Given the description of an element on the screen output the (x, y) to click on. 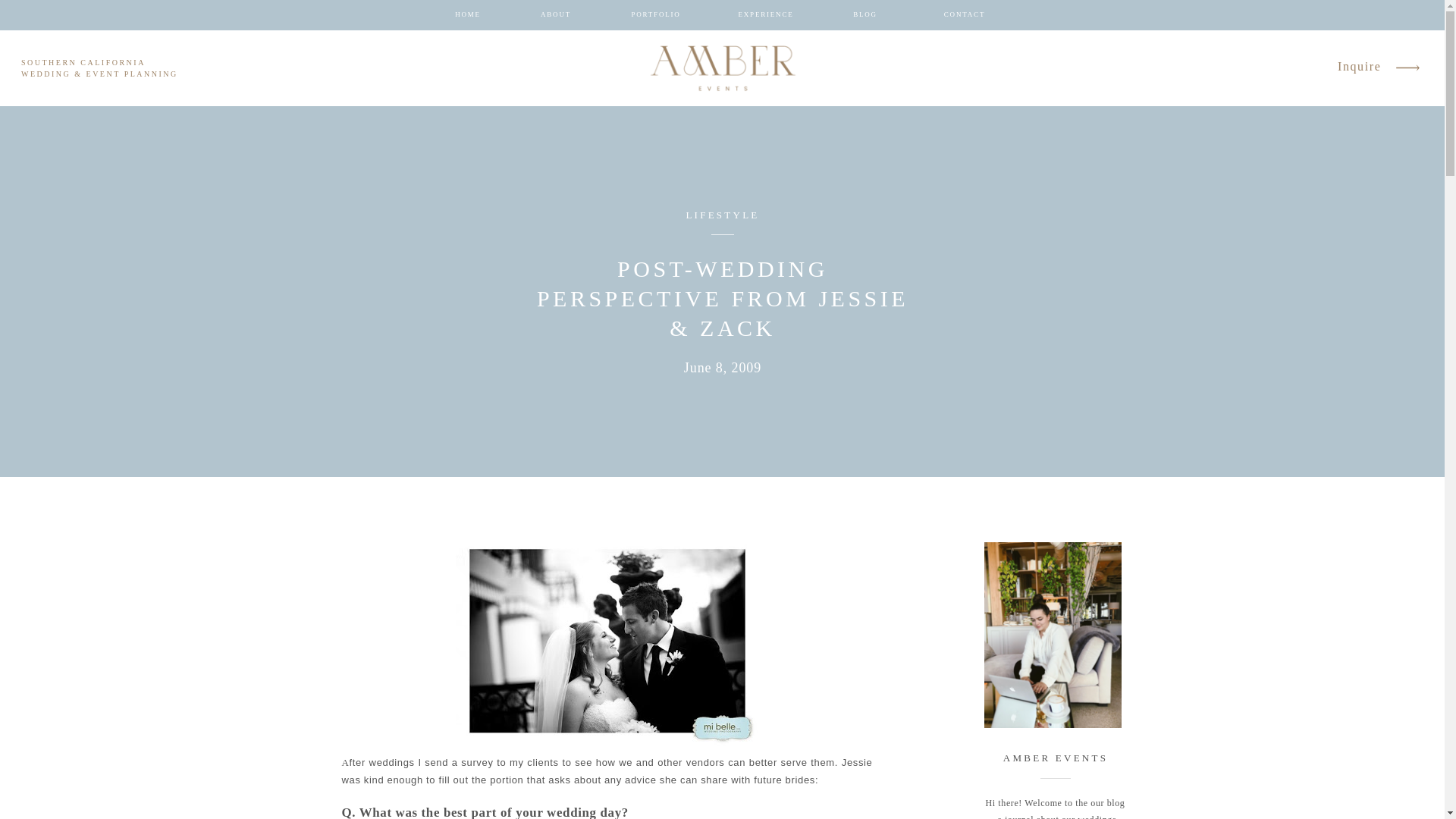
ABOUT (555, 15)
EXPERIENCE (765, 15)
arrow (1407, 67)
arrow (1407, 67)
BLOG (865, 15)
CONTACT (964, 15)
PORTFOLIO (654, 15)
Inquire  (1360, 67)
LIFESTYLE (721, 214)
HOME (467, 15)
